Given the description of an element on the screen output the (x, y) to click on. 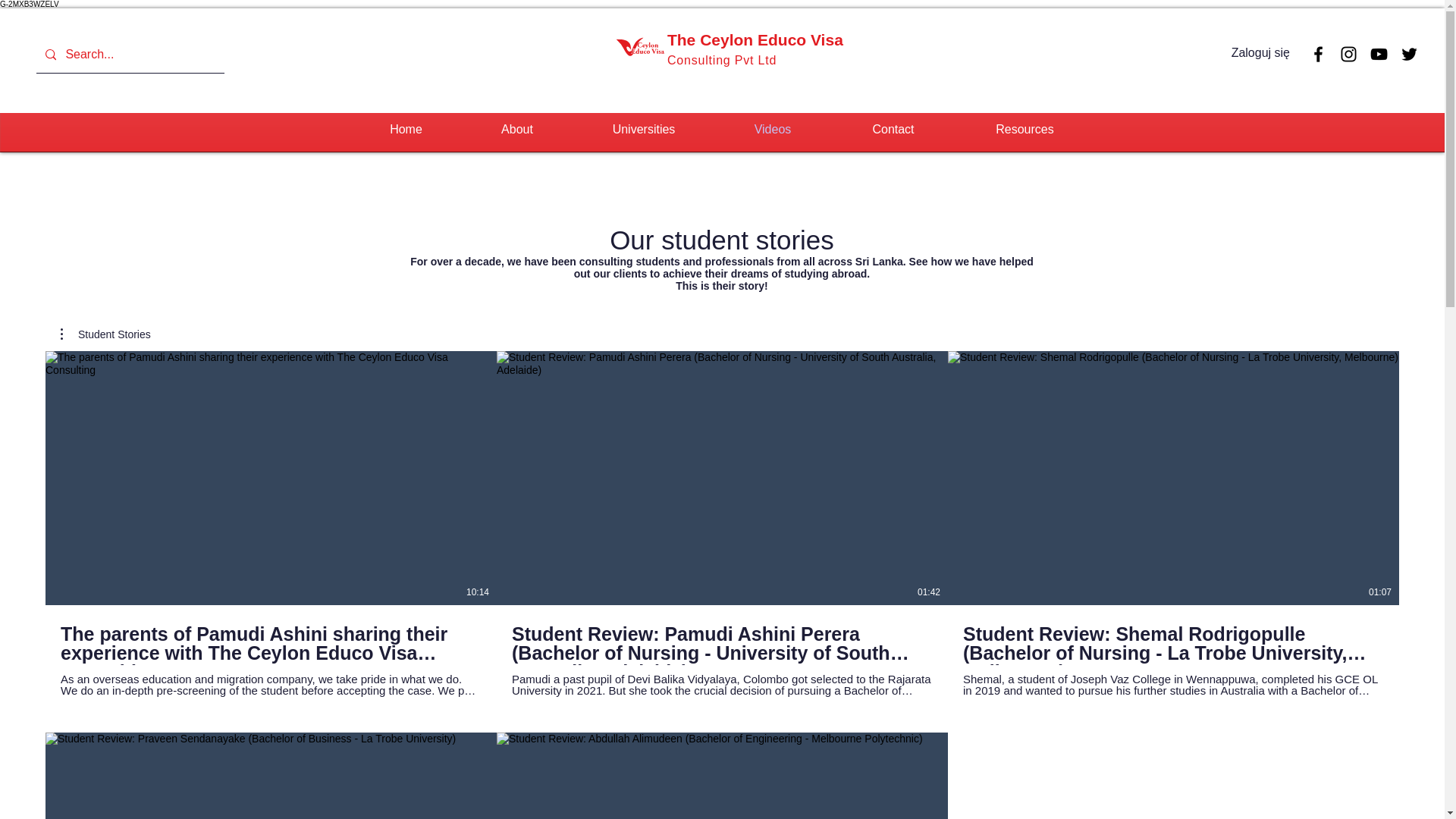
Universities (643, 129)
The Ceylon Educo Visa (754, 39)
Videos (771, 129)
About (516, 129)
Home (405, 129)
Contact (893, 129)
Resources (1024, 129)
